Given the description of an element on the screen output the (x, y) to click on. 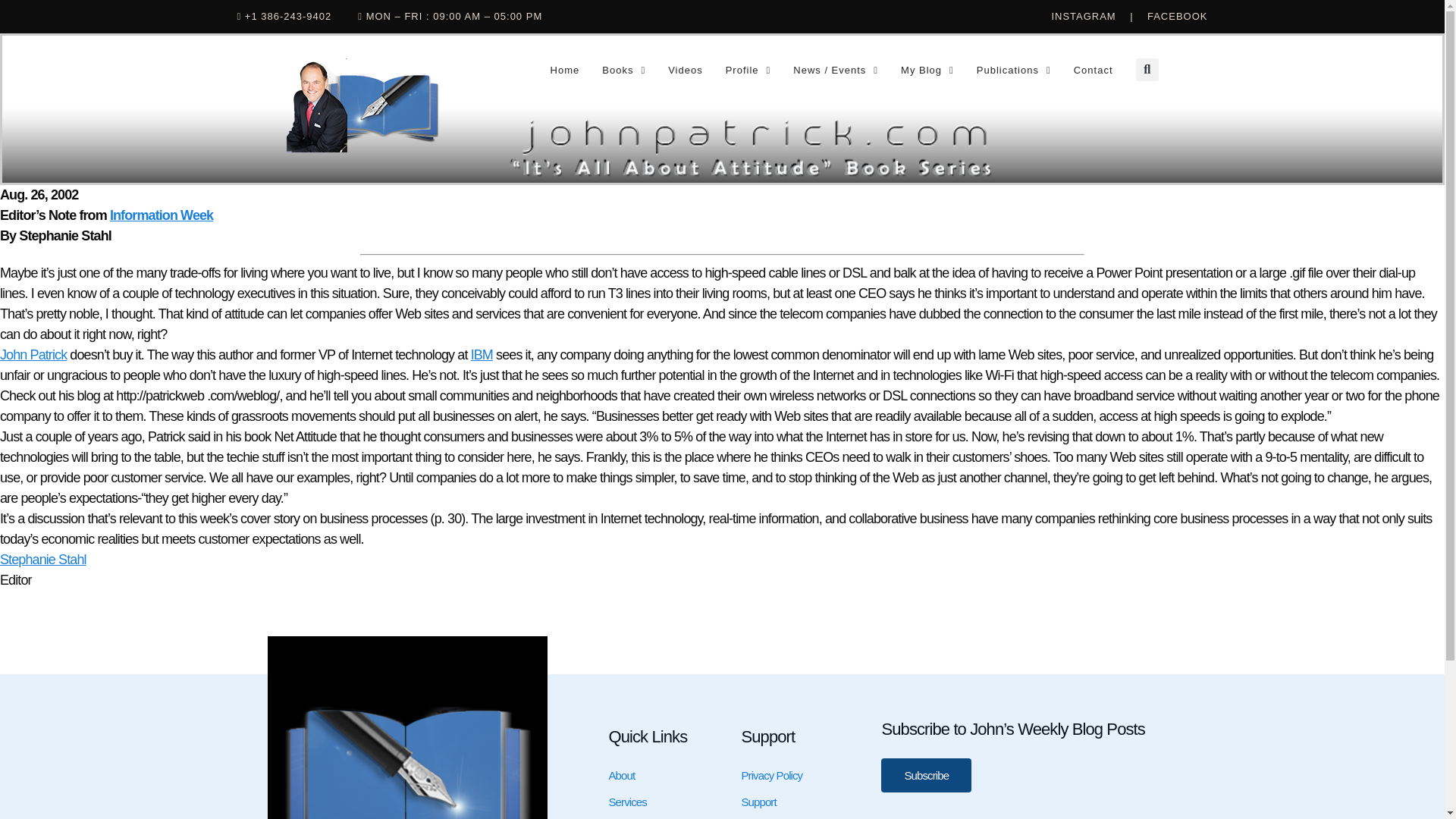
Profile (748, 69)
FACEBOOK (1177, 16)
Home (564, 69)
Books (623, 69)
Videos (685, 69)
INSTAGRAM     (1090, 16)
